Given the description of an element on the screen output the (x, y) to click on. 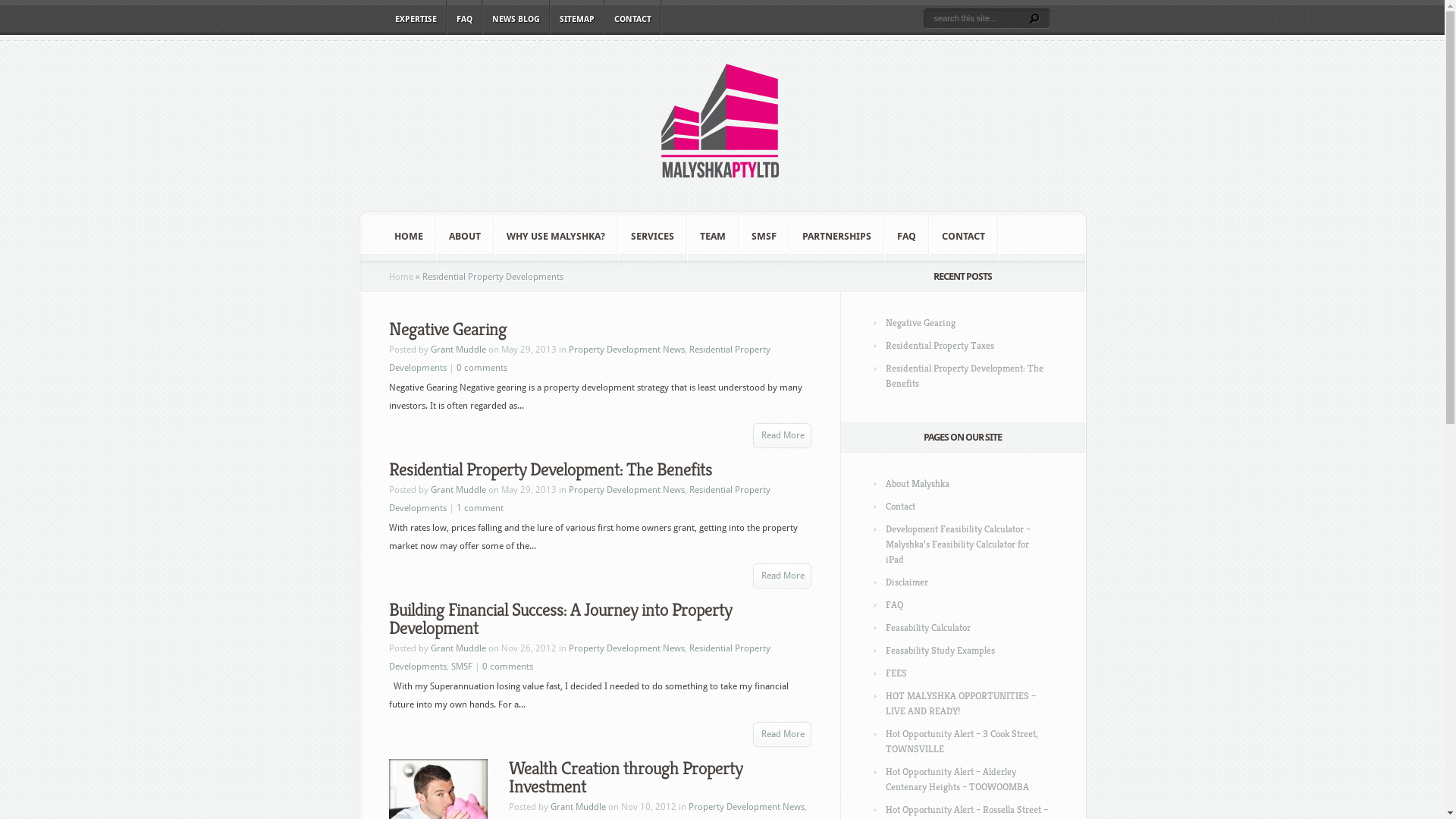
FAQ Element type: text (464, 17)
Home Element type: text (400, 276)
Feasability Study Examples Element type: text (939, 649)
Grant Muddle Element type: text (577, 806)
Read More Element type: text (782, 734)
ABOUT Element type: text (464, 236)
CONTACT Element type: text (632, 17)
SMSF Element type: text (460, 666)
SITEMAP Element type: text (576, 17)
Grant Muddle Element type: text (458, 489)
Grant Muddle Element type: text (458, 648)
Property Development News Element type: text (626, 349)
SERVICES Element type: text (652, 236)
HOME Element type: text (408, 236)
1 comment Element type: text (479, 507)
Residential Property Development: The Benefits Element type: text (964, 375)
Residential Property Taxes Element type: text (939, 344)
Residential Property Developments Element type: text (578, 498)
Read More Element type: text (782, 575)
Property Development News Element type: text (626, 648)
Residential Property Development: The Benefits Element type: text (549, 469)
TEAM Element type: text (712, 236)
EXPERTISE Element type: text (415, 17)
Wealth Creation through Property Investment Element type: text (624, 776)
Disclaimer Element type: text (906, 581)
PARTNERSHIPS Element type: text (836, 236)
NEWS BLOG Element type: text (515, 17)
SMSF Element type: text (762, 236)
About Malyshka Element type: text (917, 482)
Negative Gearing Element type: text (446, 328)
Property Development News Element type: text (746, 806)
Read More Element type: text (782, 435)
Residential Property Developments Element type: text (578, 358)
Property Development News Element type: text (626, 489)
FEES Element type: text (895, 672)
WHY USE MALYSHKA? Element type: text (555, 236)
FAQ Element type: text (905, 236)
Feasability Calculator Element type: text (927, 627)
FAQ Element type: text (894, 604)
CONTACT Element type: text (963, 236)
Contact Element type: text (900, 505)
Grant Muddle Element type: text (458, 349)
Negative Gearing Element type: text (920, 322)
0 comments Element type: text (507, 666)
0 comments Element type: text (481, 367)
Residential Property Developments Element type: text (578, 657)
